Given the description of an element on the screen output the (x, y) to click on. 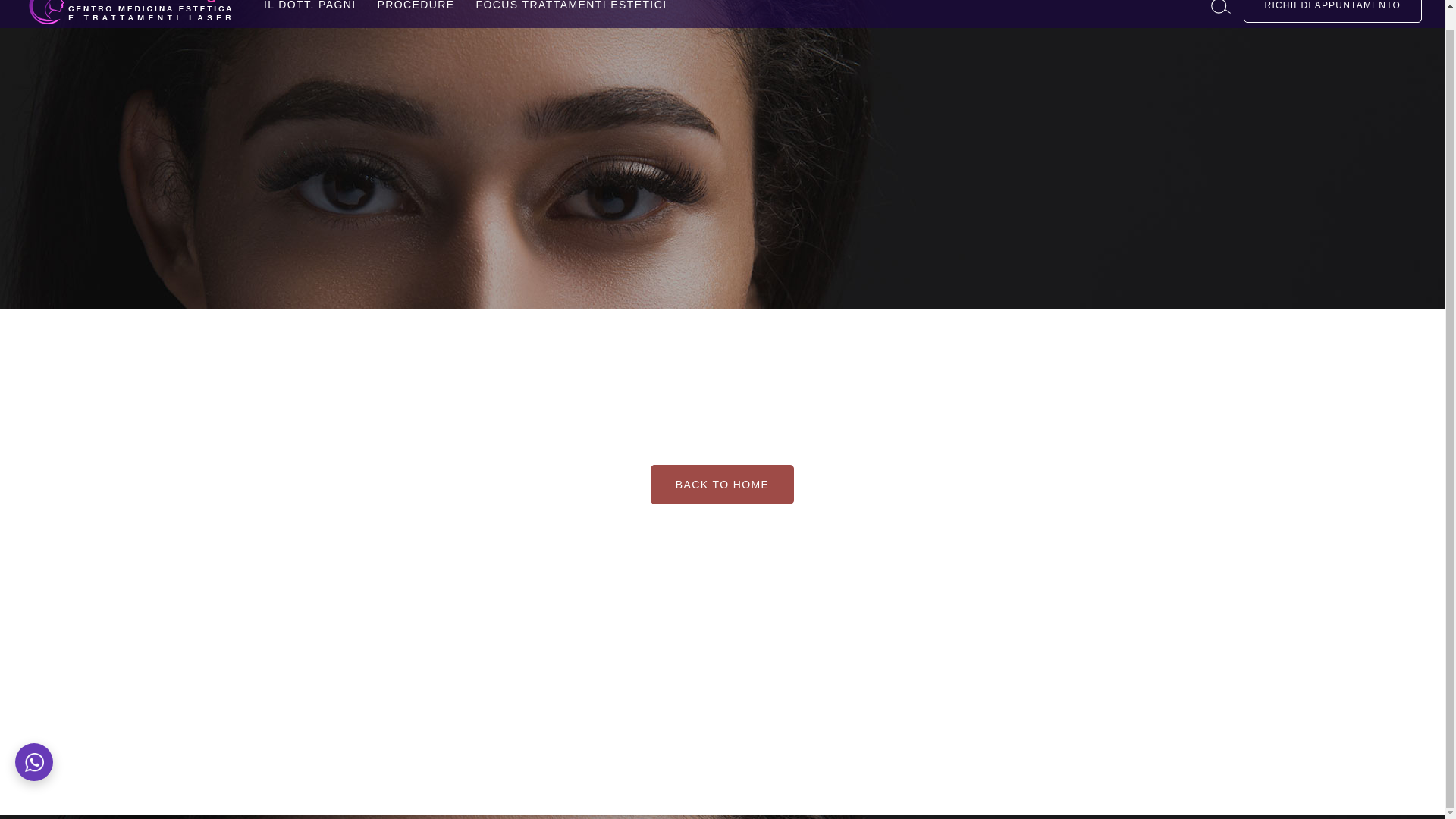
FOCUS TRATTAMENTI ESTETICI (571, 13)
PROCEDURE (415, 13)
IL DOTT. PAGNI (309, 13)
RICHIEDI APPUNTAMENTO (1332, 11)
